Given the description of an element on the screen output the (x, y) to click on. 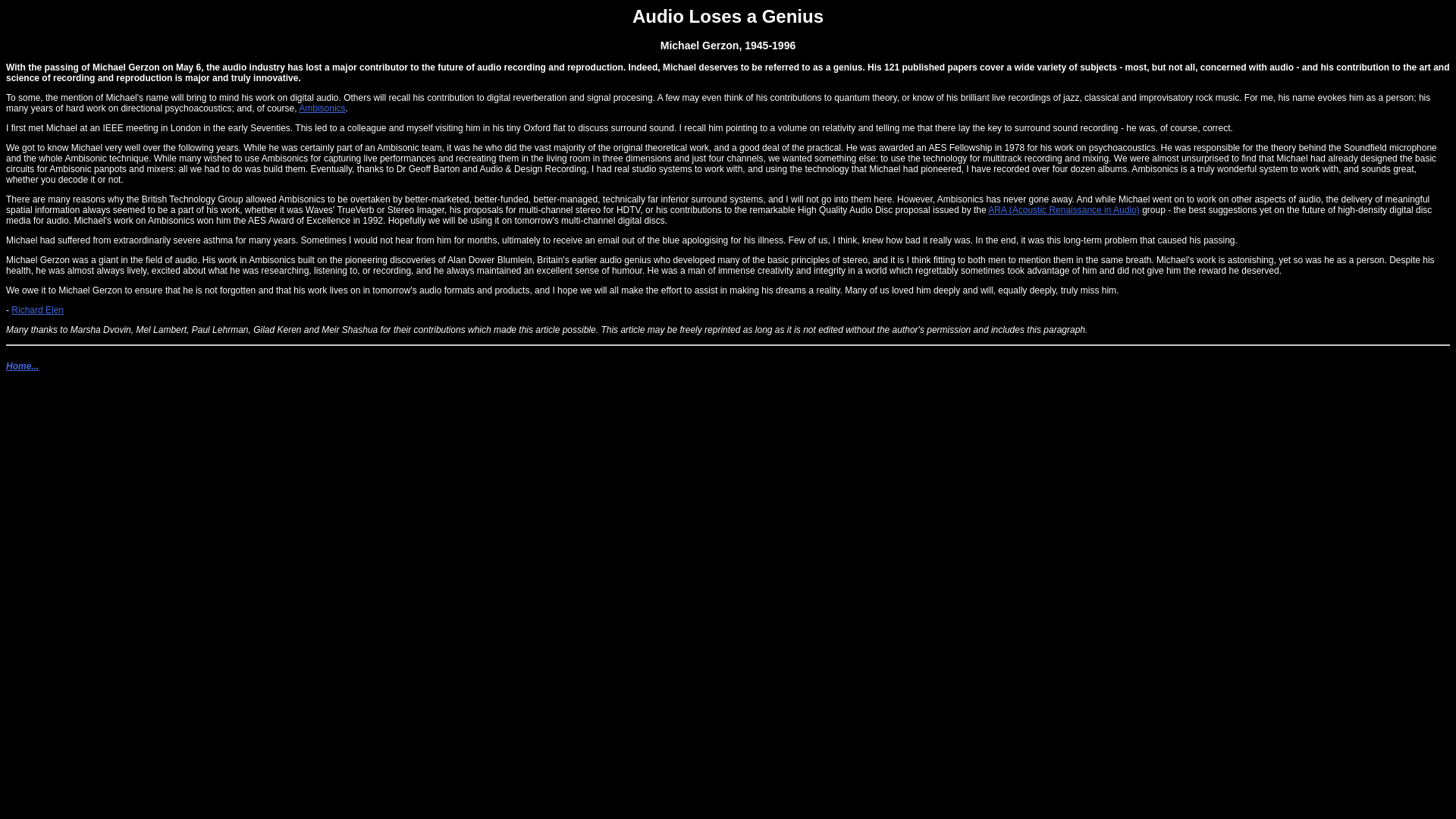
Richard Elen (37, 309)
Ambisonics (321, 108)
Home... (22, 366)
